Given the description of an element on the screen output the (x, y) to click on. 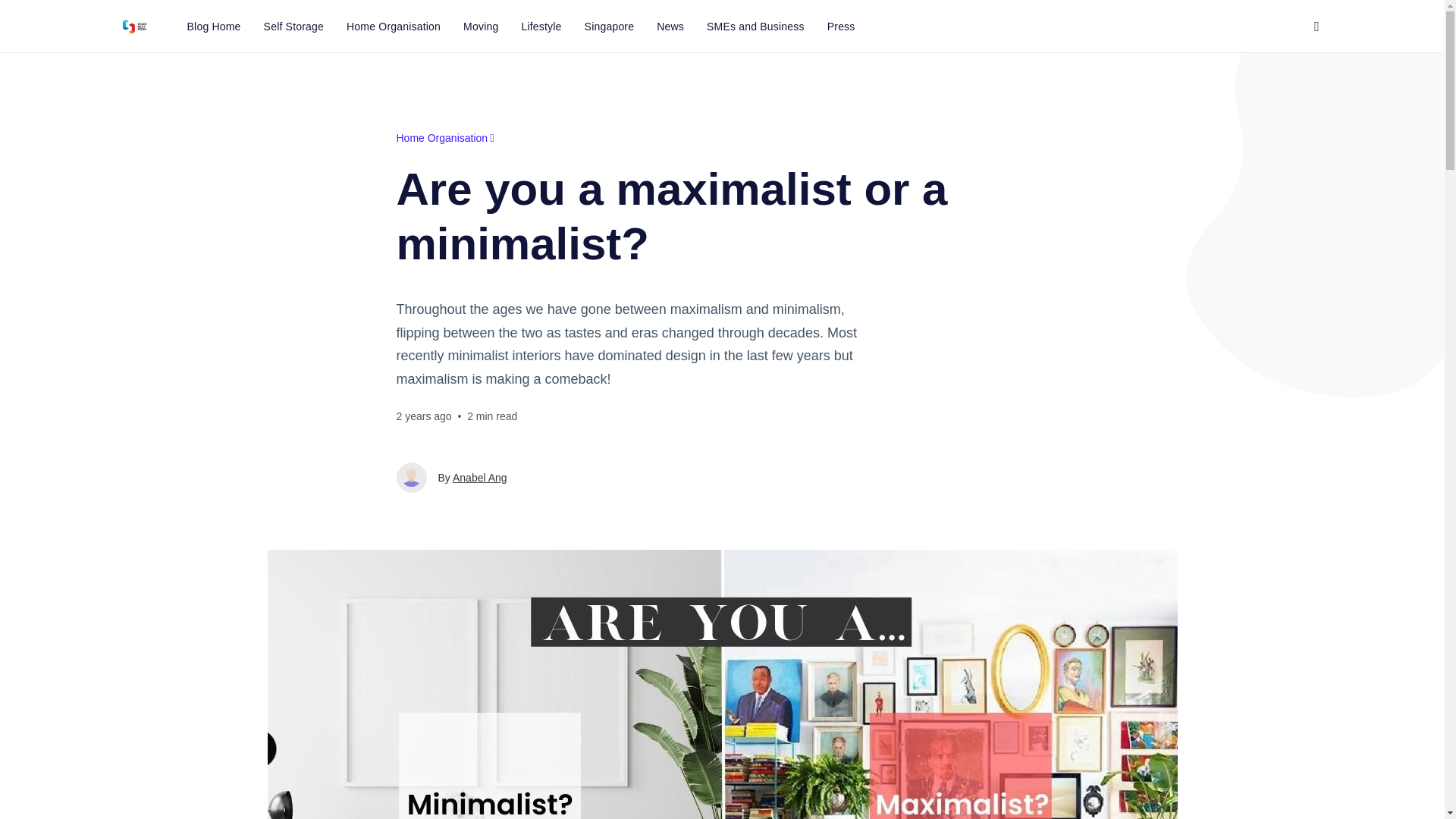
Moving (480, 26)
News (670, 26)
Anabel Ang (479, 477)
Singapore (609, 26)
Press (840, 26)
Self Storage (292, 26)
Lifestyle (540, 26)
Home Organisation (444, 138)
SMEs and Business (755, 26)
Space Next Door Blog (133, 26)
Blog Home (213, 26)
Home Organisation (392, 26)
